Given the description of an element on the screen output the (x, y) to click on. 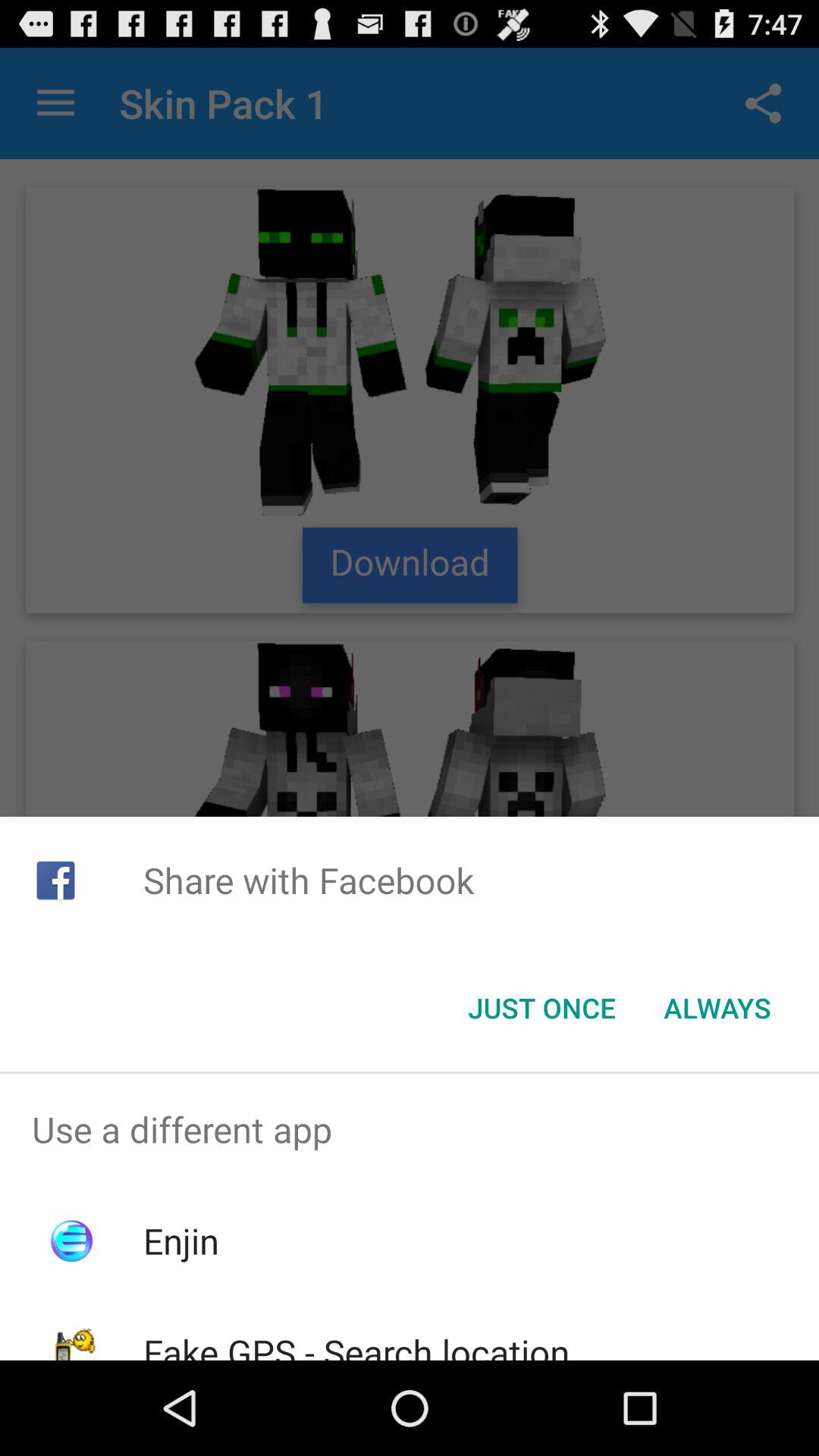
launch item above fake gps search app (180, 1240)
